Given the description of an element on the screen output the (x, y) to click on. 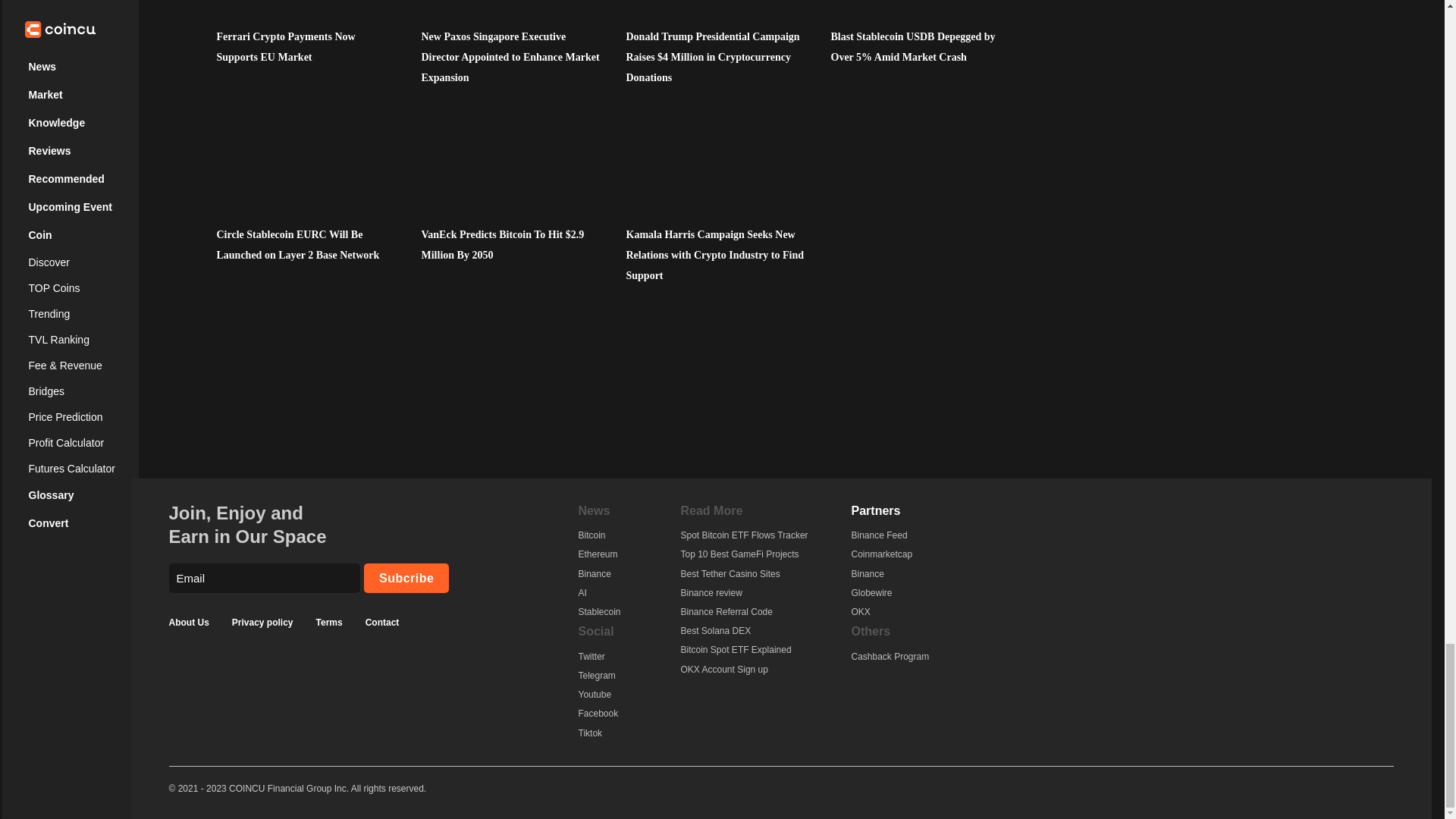
Subcribe (406, 577)
